Given the description of an element on the screen output the (x, y) to click on. 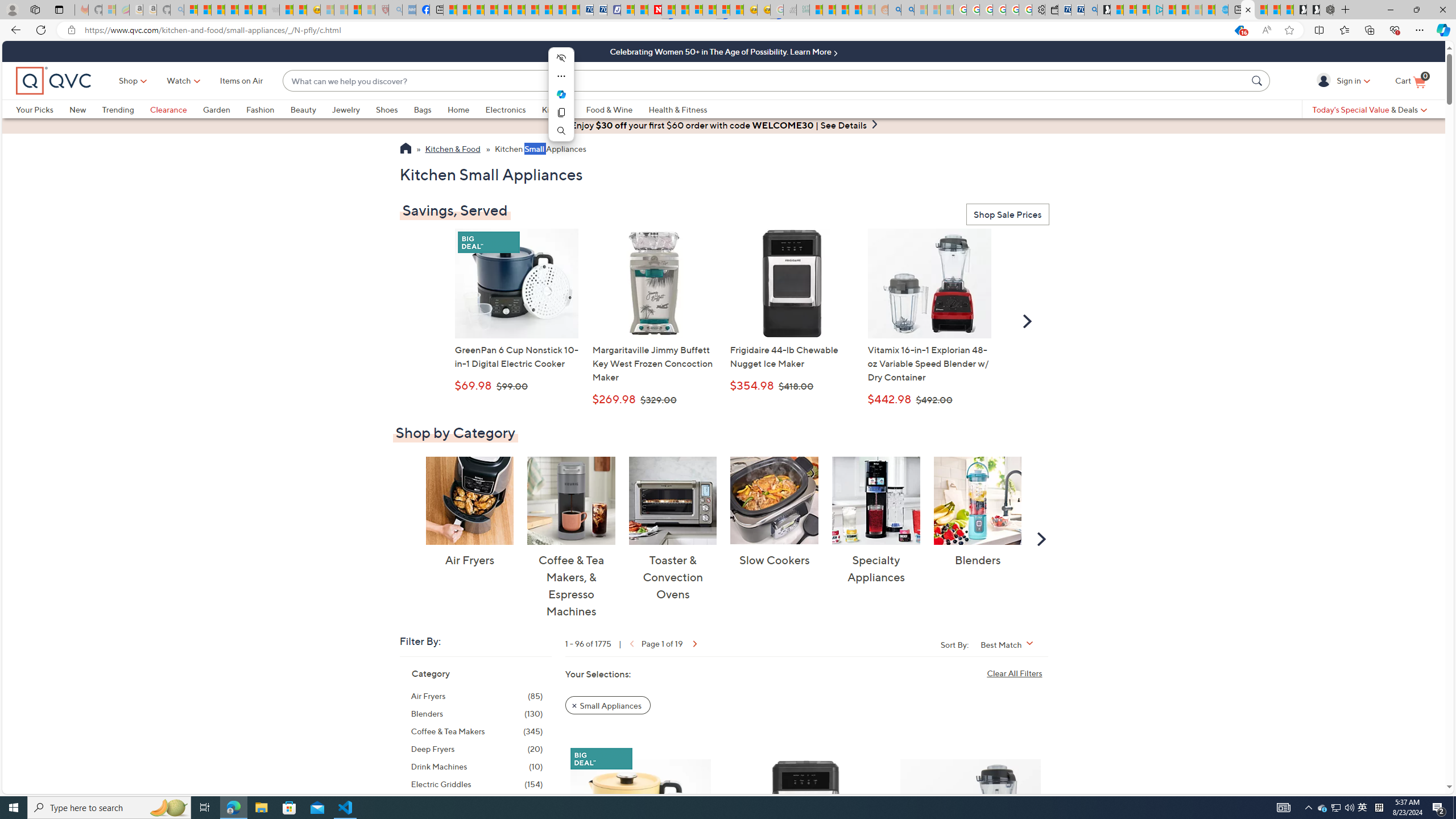
Shop Sale Prices (1007, 214)
Celebrating Women 50+ in The Age of Possibility. Learn More (723, 51)
Sign in (1325, 80)
The Weather Channel - MSN (218, 9)
MSNBC - MSN (816, 9)
Shoes (394, 109)
Navy Quest (789, 9)
World - MSN (477, 9)
Copy (560, 112)
